Given the description of an element on the screen output the (x, y) to click on. 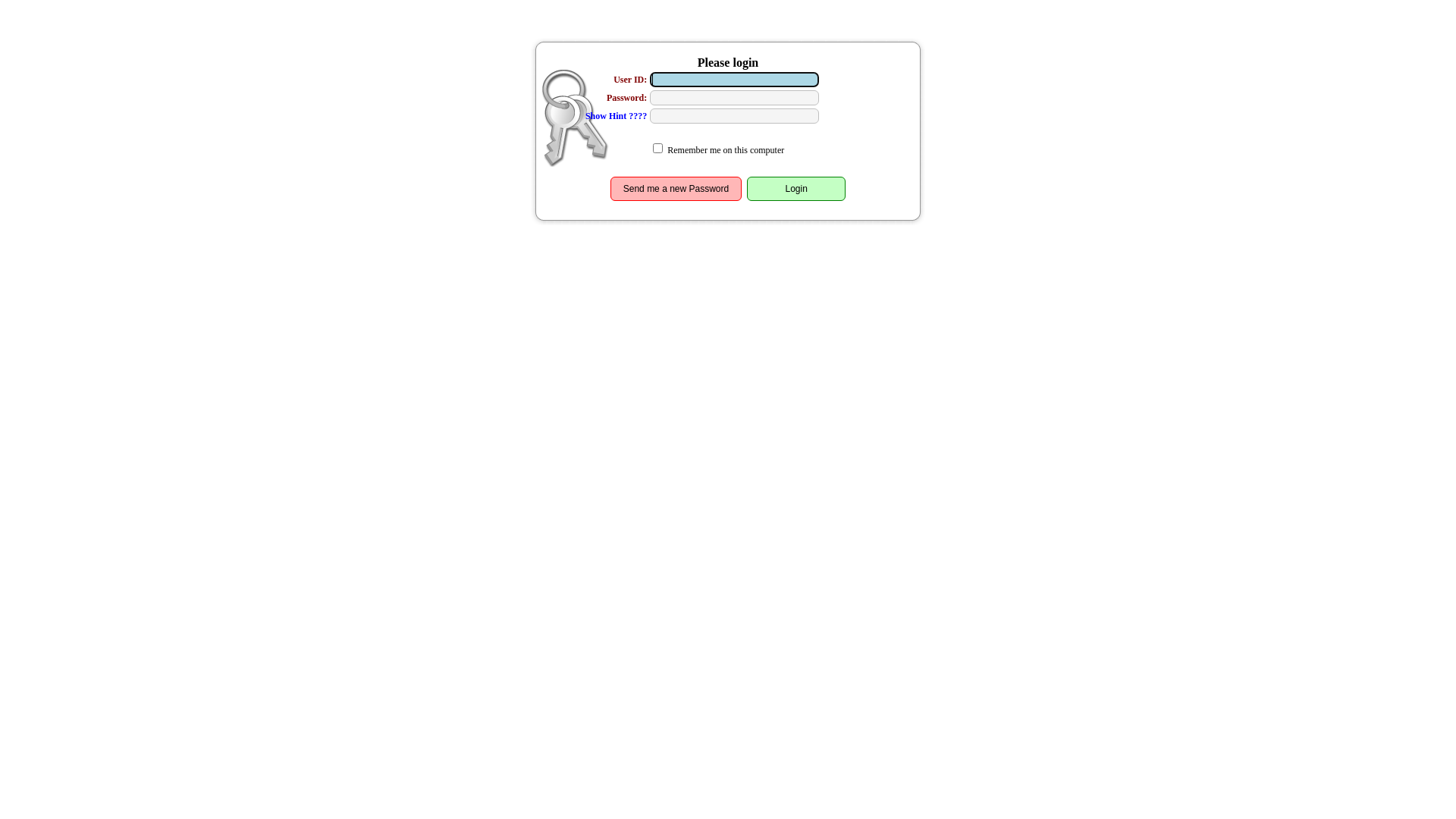
Send me a new Password Element type: text (675, 188)
Show Hint ???? Element type: text (615, 115)
